Given the description of an element on the screen output the (x, y) to click on. 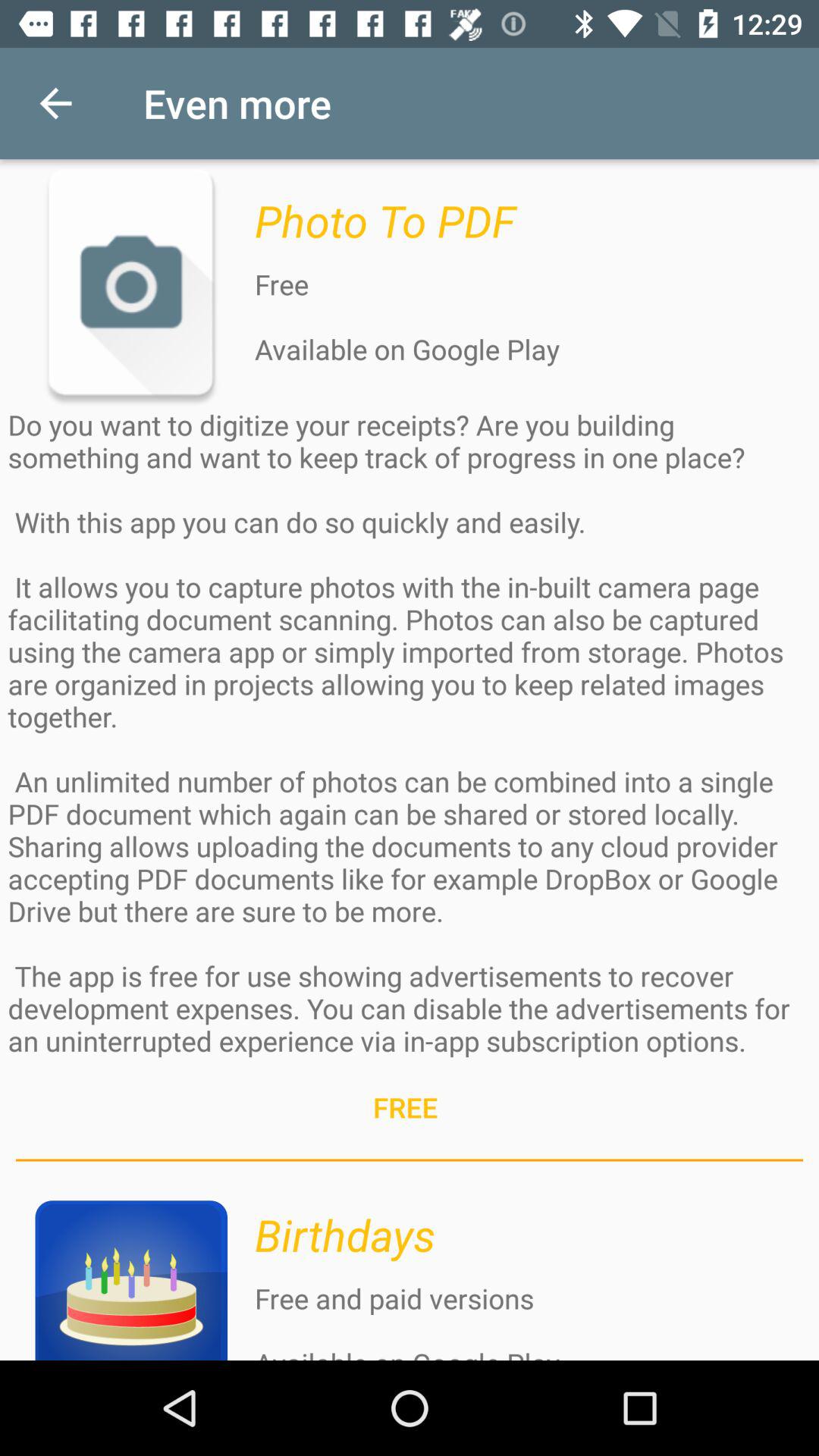
click icon to the left of the even more (55, 103)
